Given the description of an element on the screen output the (x, y) to click on. 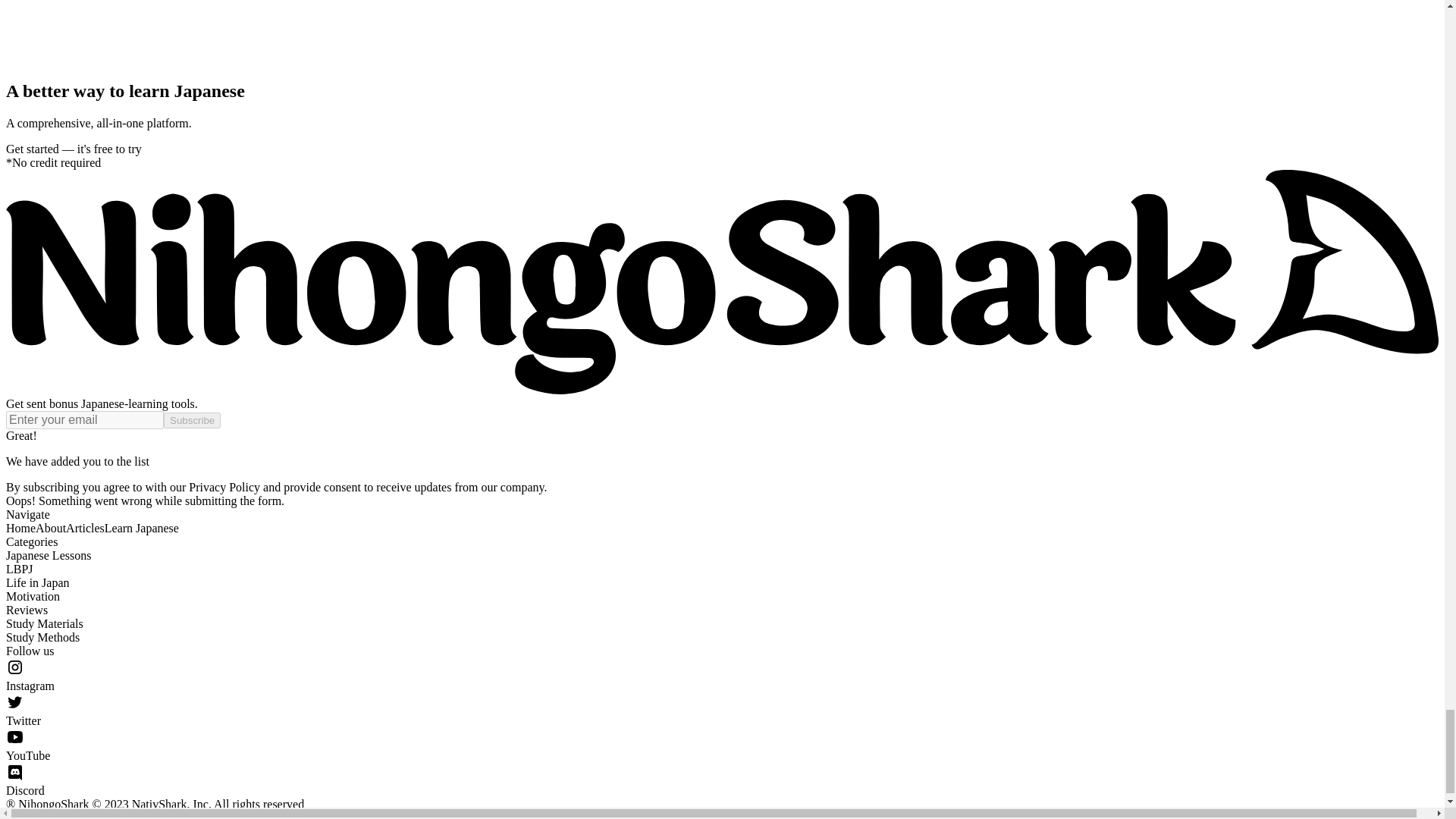
Reviews (26, 609)
About (49, 527)
Subscribe (192, 420)
Motivation (32, 595)
Subscribe (192, 420)
Home (19, 527)
Study Methods (42, 636)
Japanese Lessons (47, 554)
YouTube (721, 745)
Twitter (721, 710)
Life in Japan (37, 582)
Learn Japanese (141, 527)
LBPJ (19, 568)
Study Materials (43, 623)
Articles (84, 527)
